Given the description of an element on the screen output the (x, y) to click on. 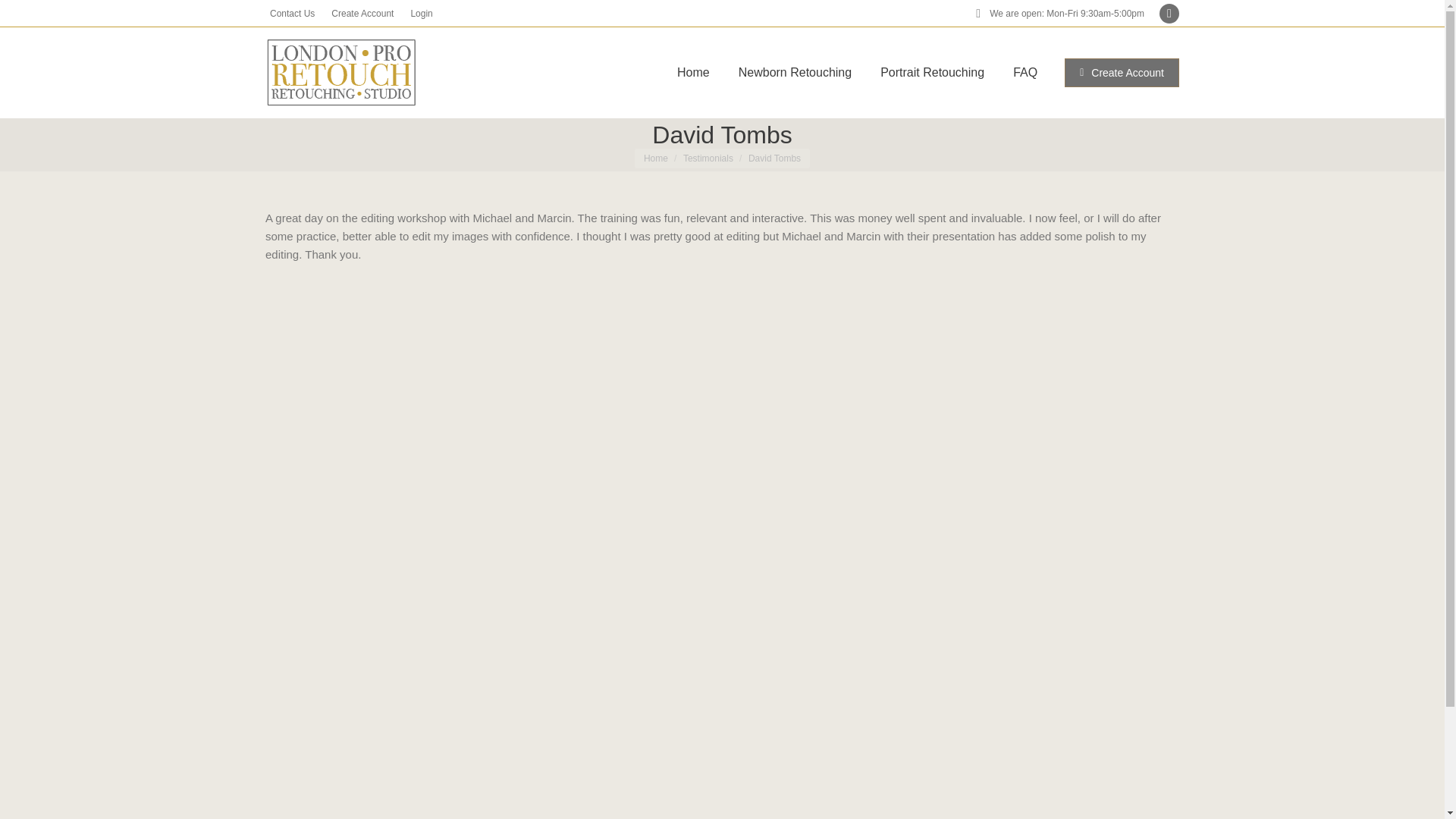
Newborn Retouching (794, 72)
Login (419, 13)
Create Account (359, 13)
Facebook page opens in new window (1168, 13)
Home (693, 72)
Create Account (1121, 72)
PRIVACY POLICY (972, 796)
Company Info (1150, 796)
Contact Us (289, 13)
Home (655, 158)
Contact Us (900, 796)
Testimonials (707, 158)
London Pro Retouch (471, 795)
Facebook page opens in new window (1168, 13)
Terms and Conditions (1065, 796)
